Given the description of an element on the screen output the (x, y) to click on. 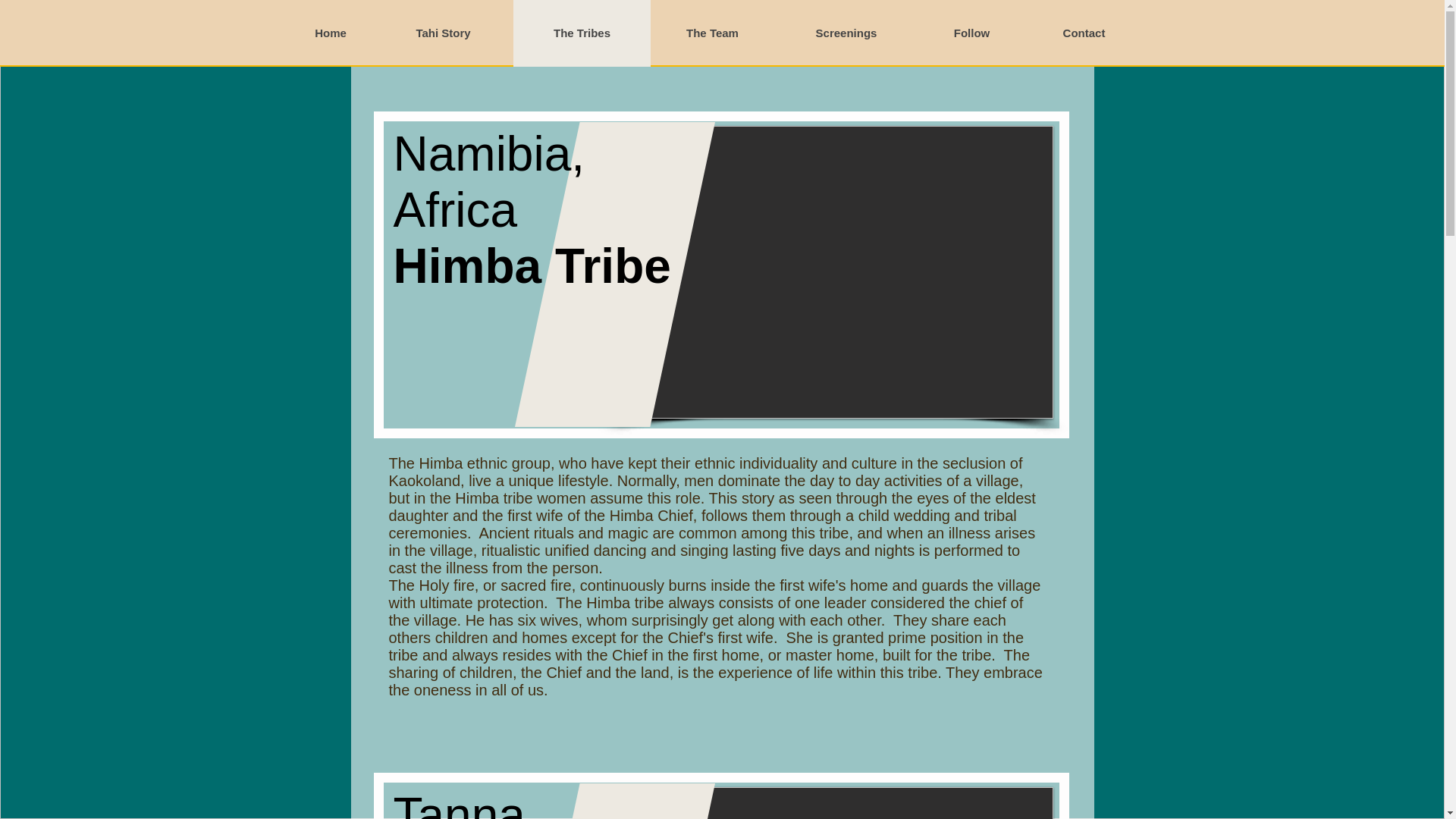
The Team (712, 33)
Contact (1083, 33)
Home (330, 33)
Screenings (845, 33)
Follow (971, 33)
The Tribes (580, 33)
Tahi Story (442, 33)
